Given the description of an element on the screen output the (x, y) to click on. 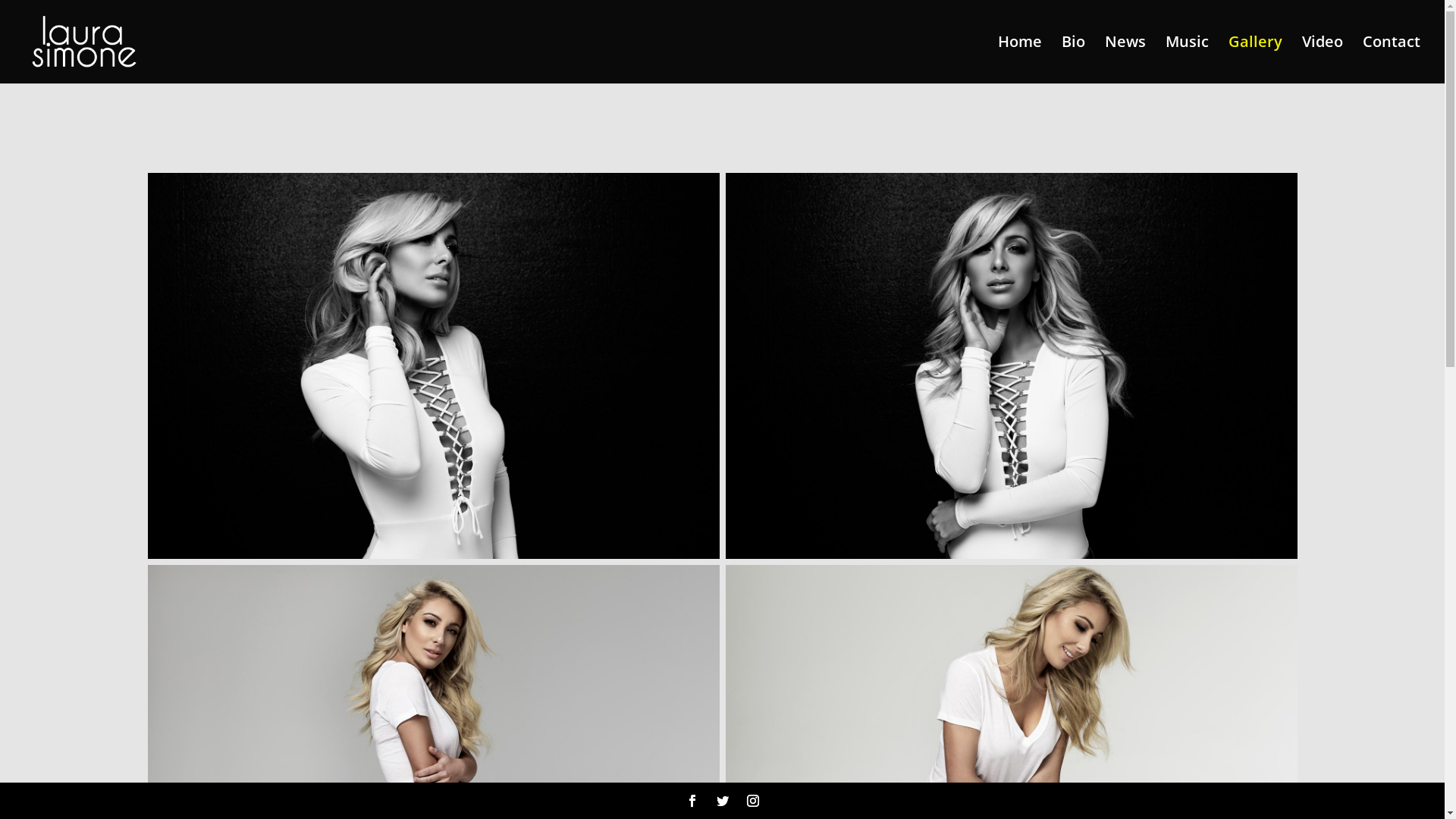
Video Element type: text (1322, 59)
Laura-Simone26254 Element type: hover (1010, 365)
Follow on Facebook Element type: hover (691, 800)
Gallery Element type: text (1255, 59)
Contact Element type: text (1391, 59)
Bio Element type: text (1073, 59)
Follow on Instagram Element type: hover (752, 800)
News Element type: text (1124, 59)
Home Element type: text (1019, 59)
Music Element type: text (1186, 59)
Follow on Twitter Element type: hover (721, 800)
Laura-Simone26197 Element type: hover (432, 365)
